Given the description of an element on the screen output the (x, y) to click on. 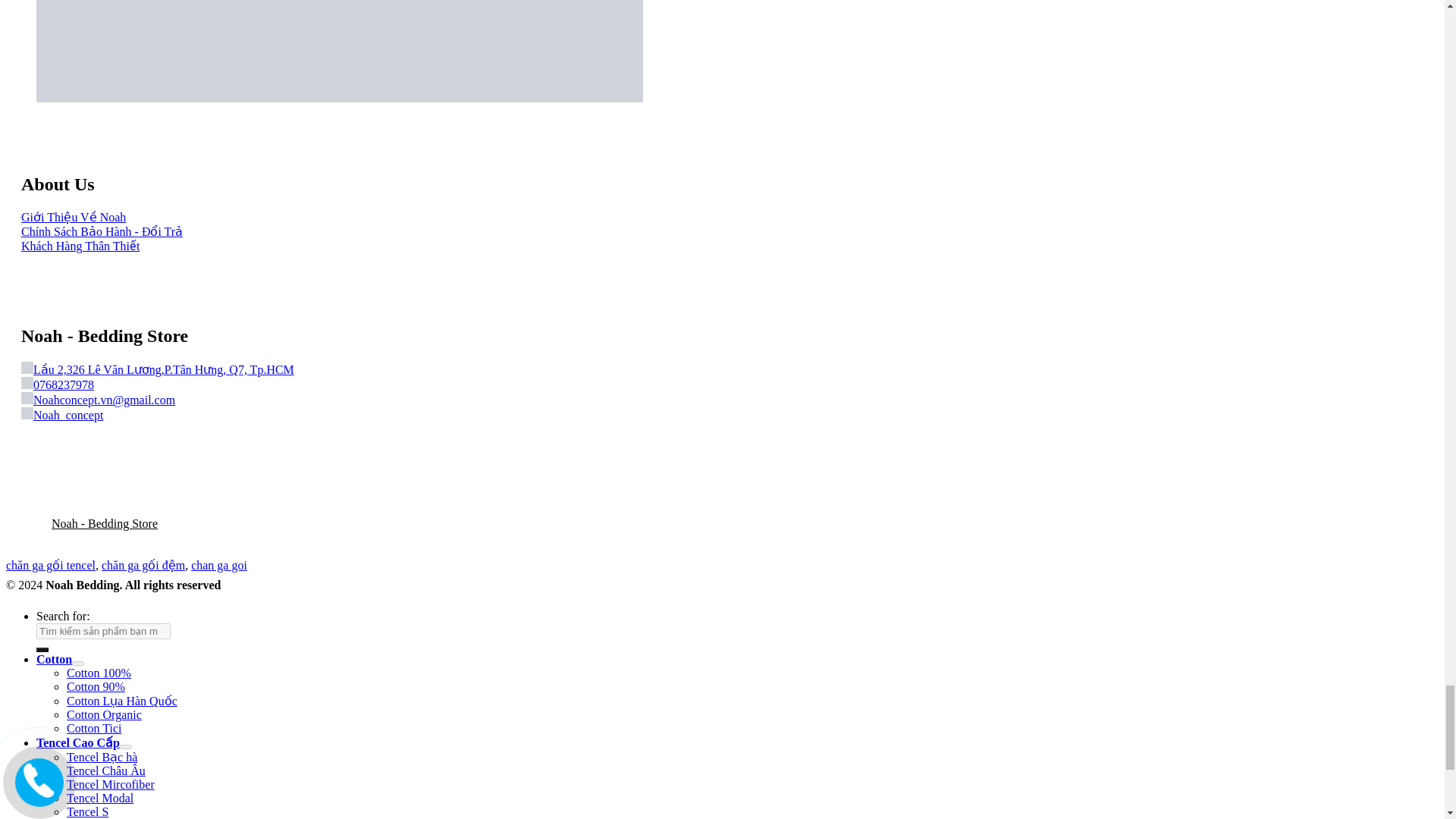
chan ga goi (218, 564)
